Given the description of an element on the screen output the (x, y) to click on. 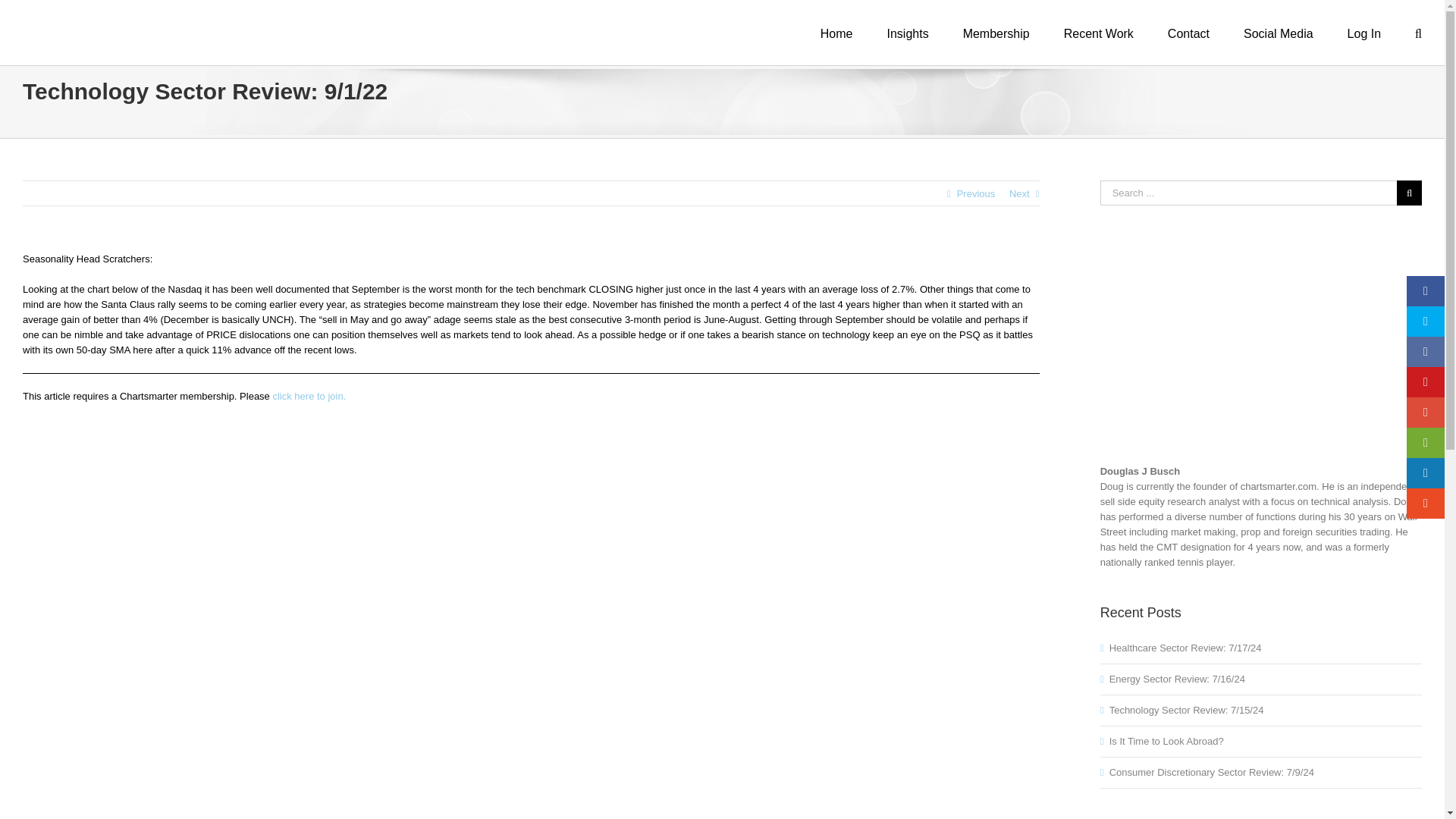
click here to join. (309, 396)
Previous (975, 193)
Membership (995, 32)
Recent Work (1099, 32)
Is It Time to Look Abroad? (1166, 740)
Social Media (1278, 32)
